Given the description of an element on the screen output the (x, y) to click on. 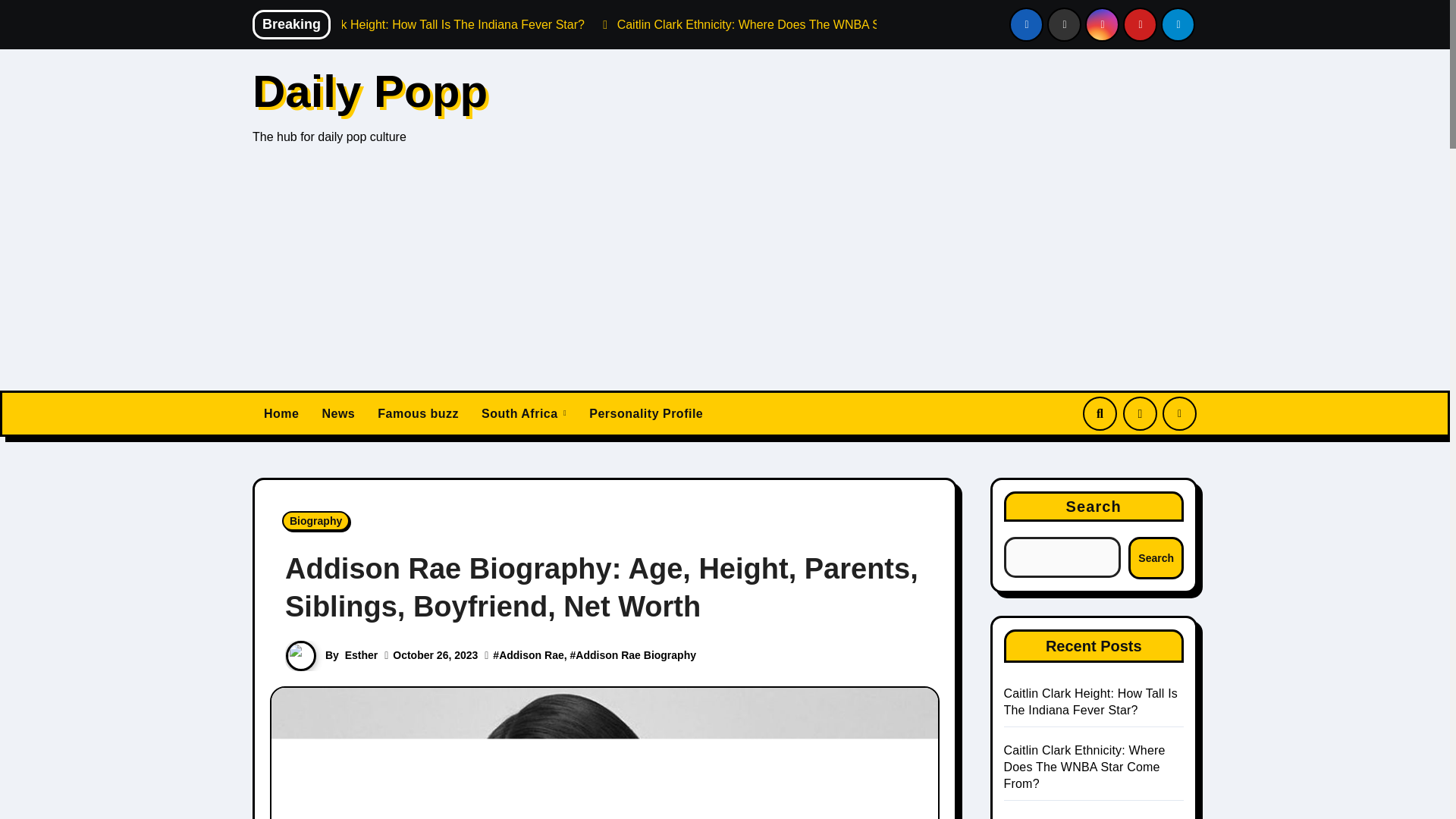
Personality Profile (646, 413)
Biography (315, 520)
Caitlin Clark Ethnicity: Where Does The WNBA Star Come From? (780, 24)
South Africa (524, 413)
Home (280, 413)
South Africa (524, 413)
Daily Popp (369, 91)
News (338, 413)
Famous buzz (418, 413)
October 26, 2023 (435, 654)
